Given the description of an element on the screen output the (x, y) to click on. 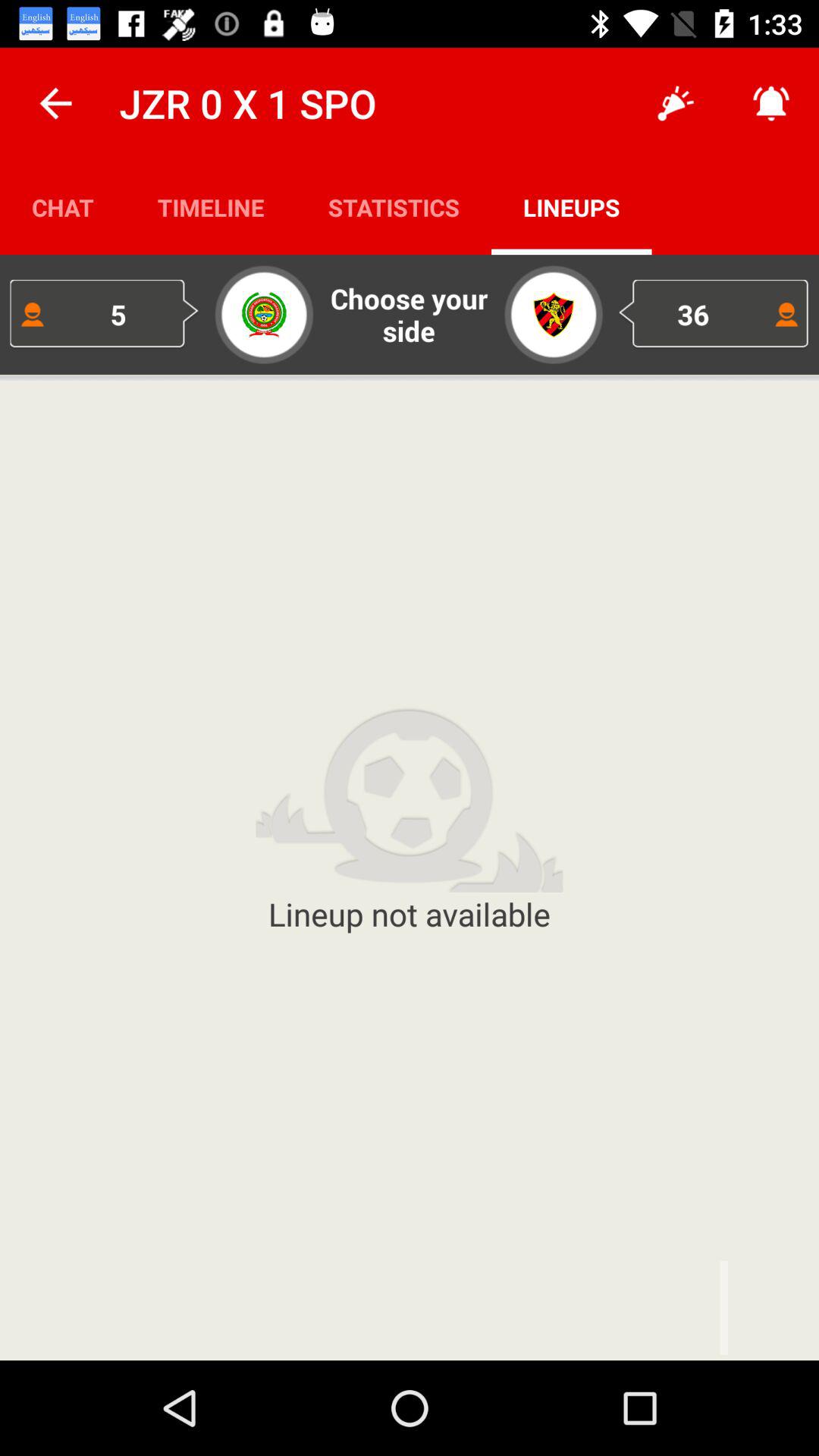
launch item below the chat (104, 314)
